Given the description of an element on the screen output the (x, y) to click on. 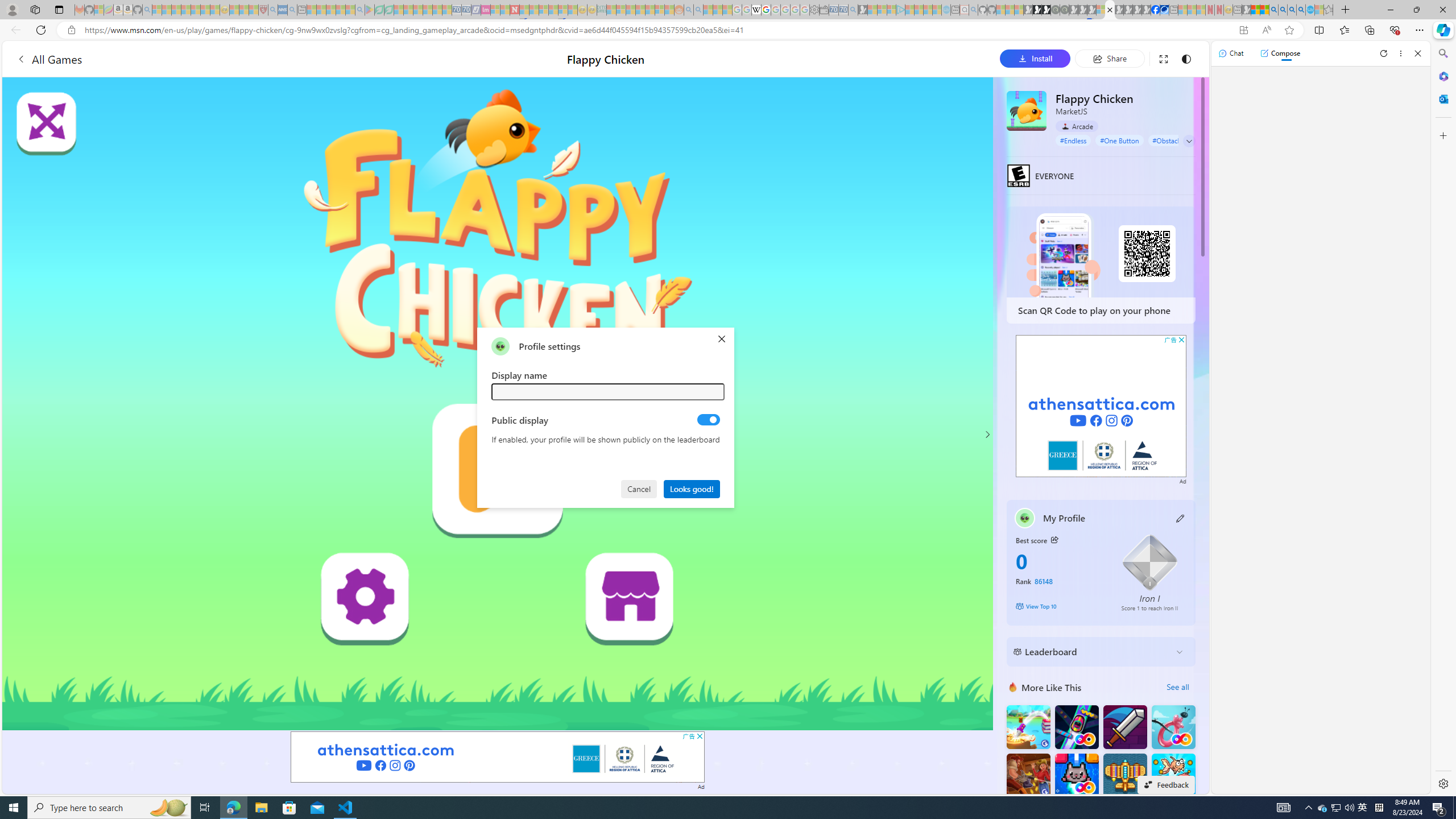
Target page - Wikipedia (755, 9)
Leaderboard (1091, 651)
Class: expand-arrow neutral (1188, 141)
Class: button edit-icon (1180, 517)
Change to dark mode (1185, 58)
